Given the description of an element on the screen output the (x, y) to click on. 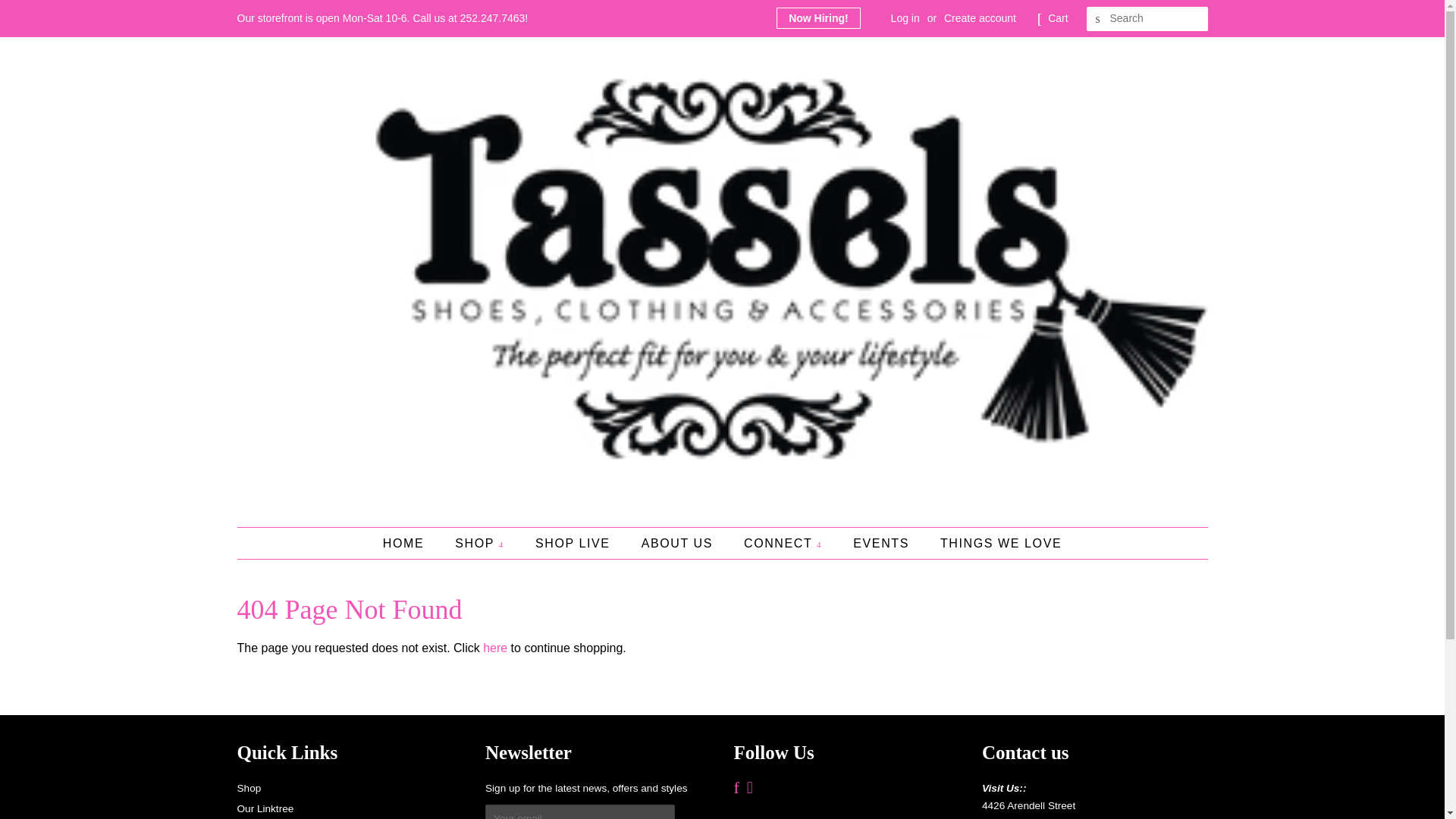
HOME (410, 542)
Cart (1057, 18)
SEARCH (1097, 18)
Now Hiring! (818, 17)
SHOP (481, 542)
Log in (905, 18)
Create account (979, 18)
